Given the description of an element on the screen output the (x, y) to click on. 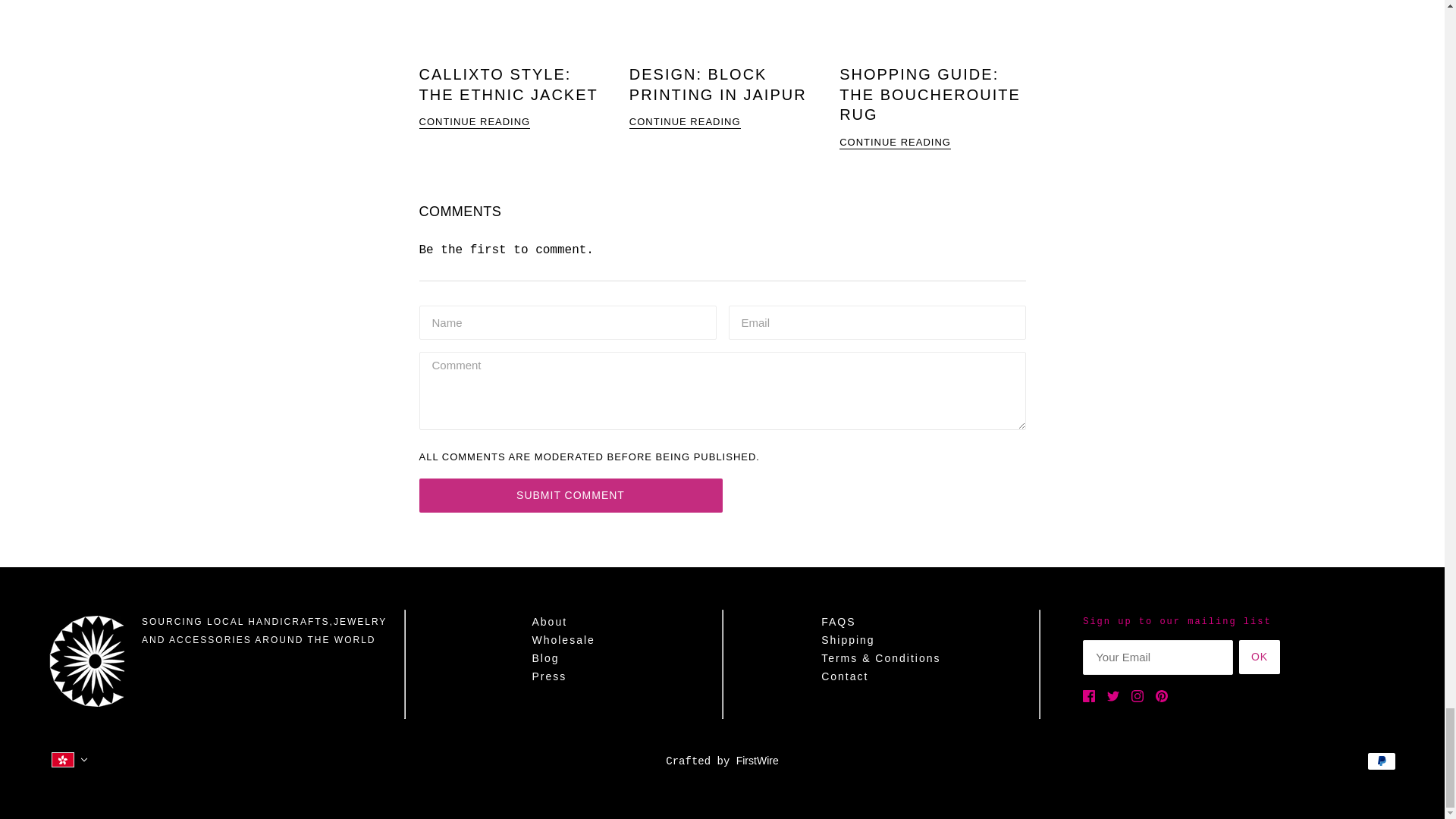
Wholesale (562, 639)
About (549, 621)
Press (548, 676)
FAQS (838, 621)
PayPal (1381, 761)
Shipping (848, 639)
Blog (545, 657)
Contact (844, 676)
